Given the description of an element on the screen output the (x, y) to click on. 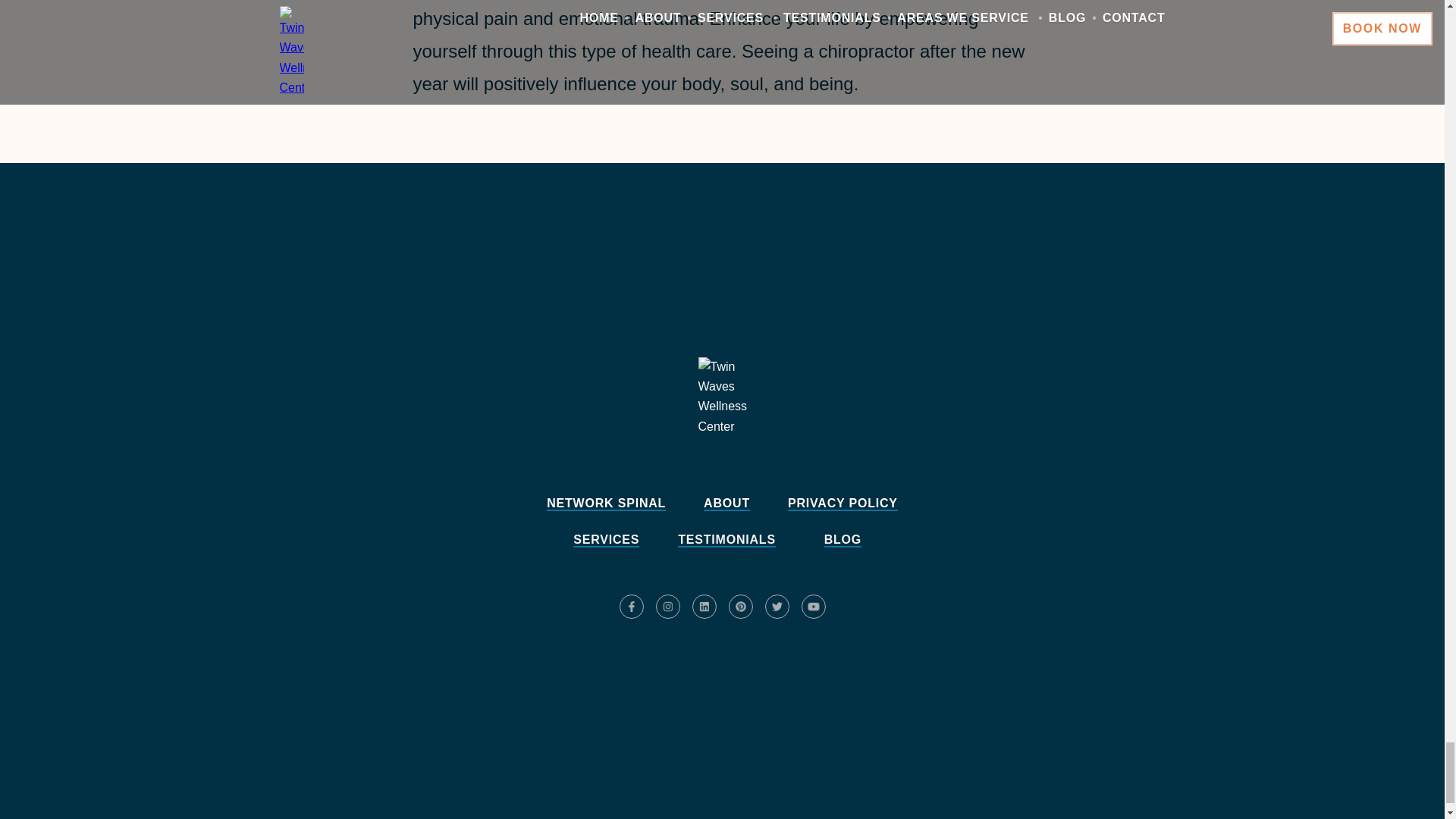
TESTIMONIALS (727, 540)
Schedule an appointment (721, 660)
SERVICES (606, 540)
ABOUT (726, 503)
PRIVACY POLICY (842, 503)
NETWORK SPINAL (606, 503)
BLOG (842, 540)
